Given the description of an element on the screen output the (x, y) to click on. 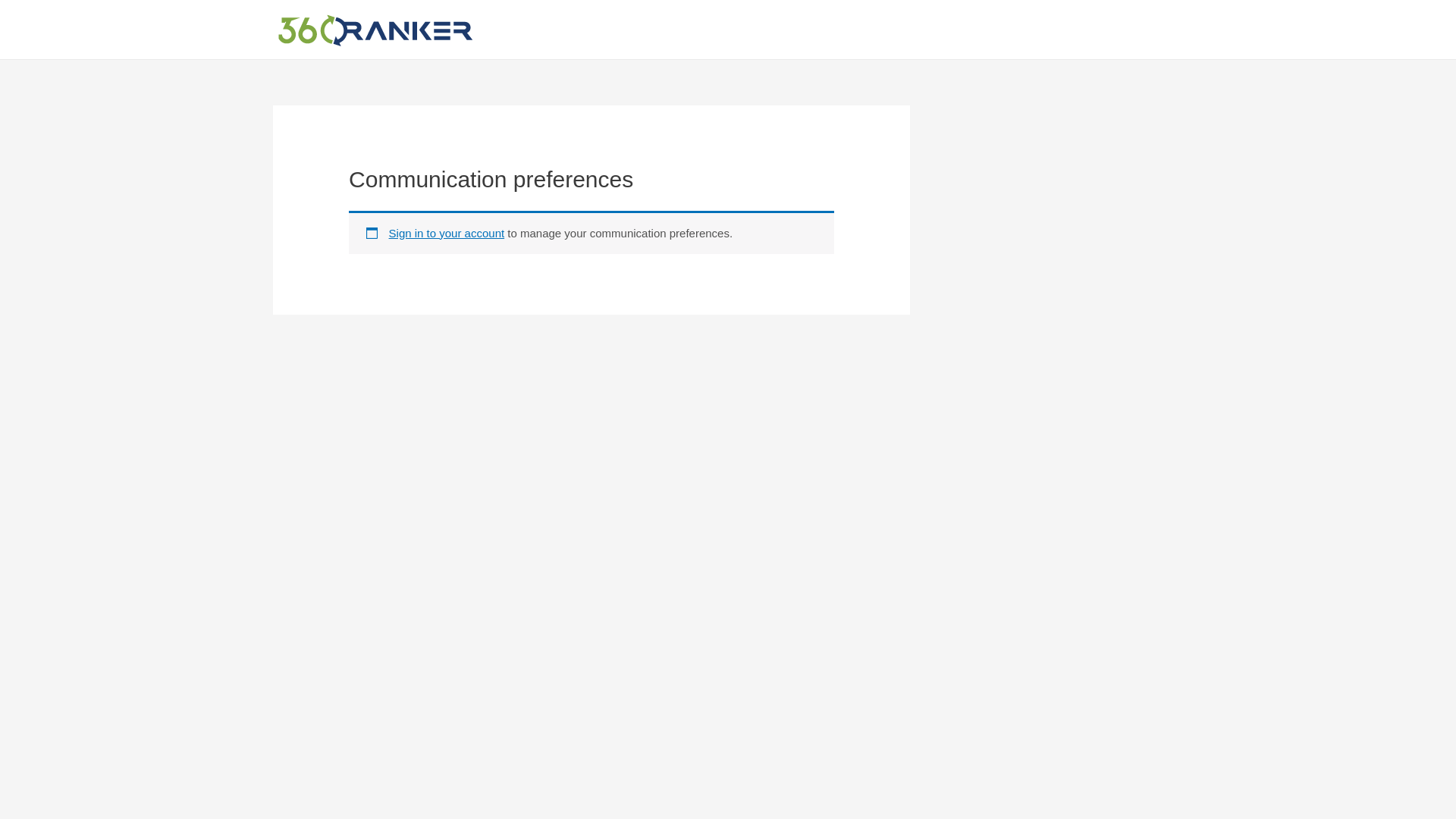
Sign in to your account Element type: text (447, 232)
